Given the description of an element on the screen output the (x, y) to click on. 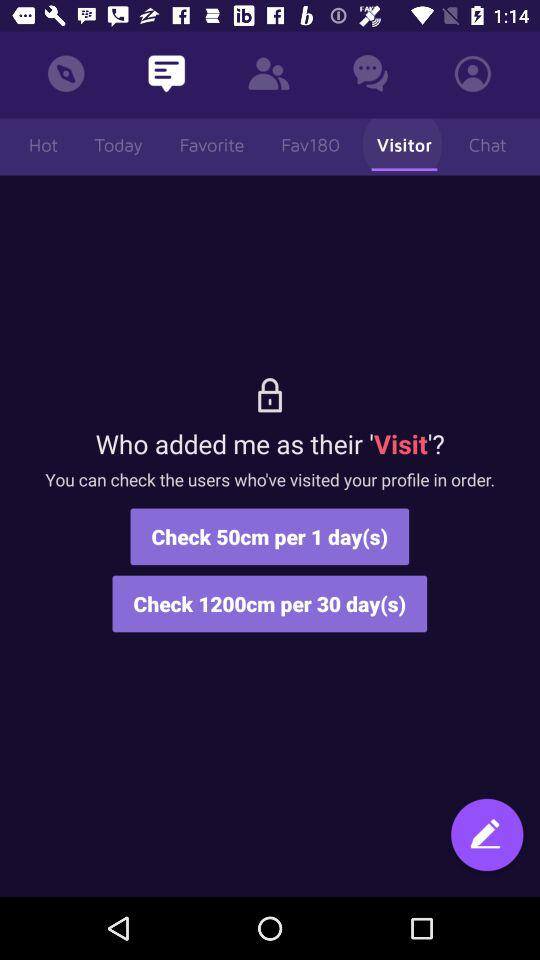
click icon at the bottom right corner (487, 844)
